Given the description of an element on the screen output the (x, y) to click on. 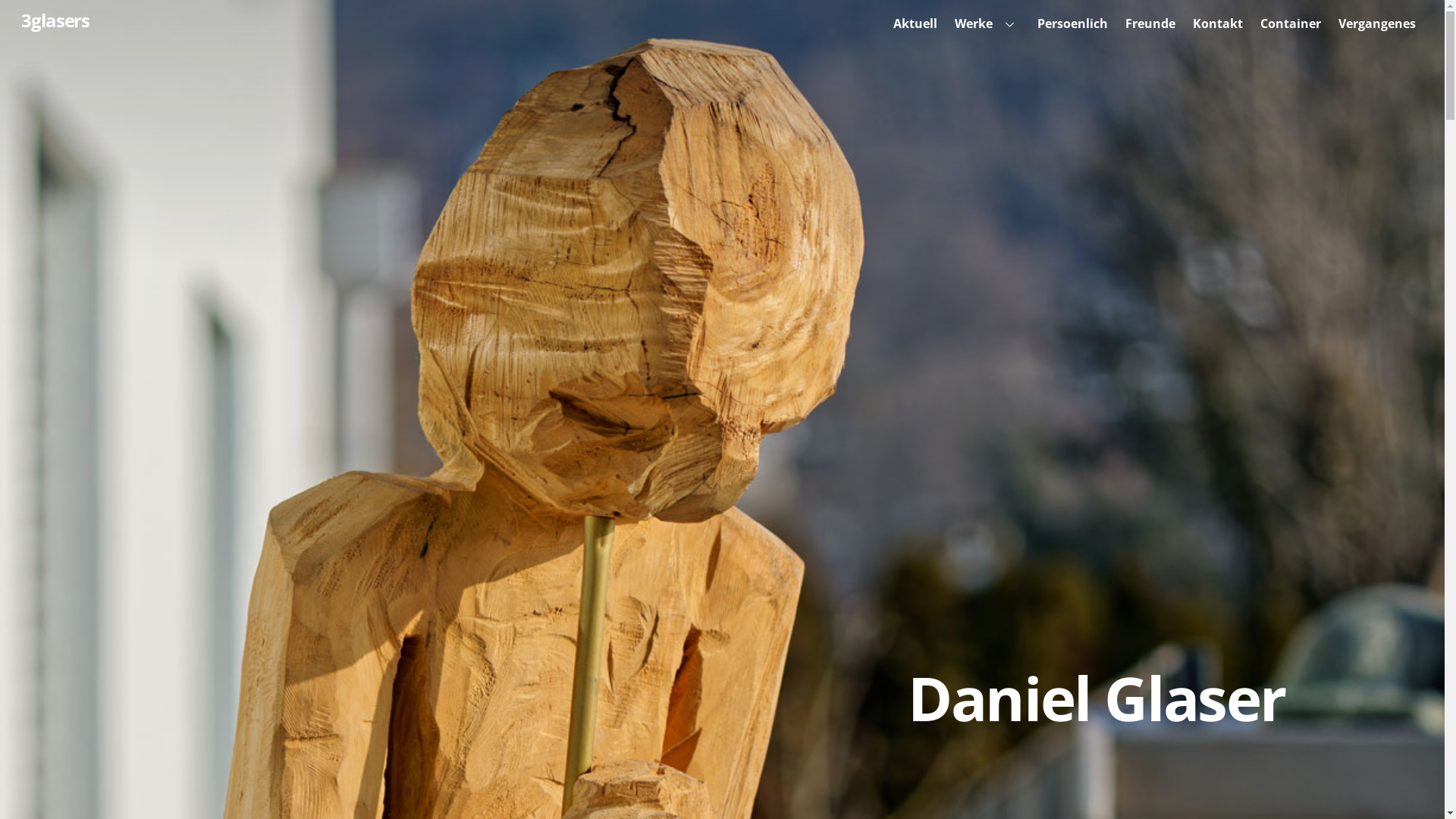
Freunde Element type: text (1149, 23)
Aktuell Element type: text (914, 23)
Kontakt Element type: text (1217, 23)
Persoenlich Element type: text (1071, 23)
3glasers Element type: text (55, 19)
Werke Element type: text (986, 23)
Container Element type: text (1290, 23)
Vergangenes Element type: text (1377, 23)
